Given the description of an element on the screen output the (x, y) to click on. 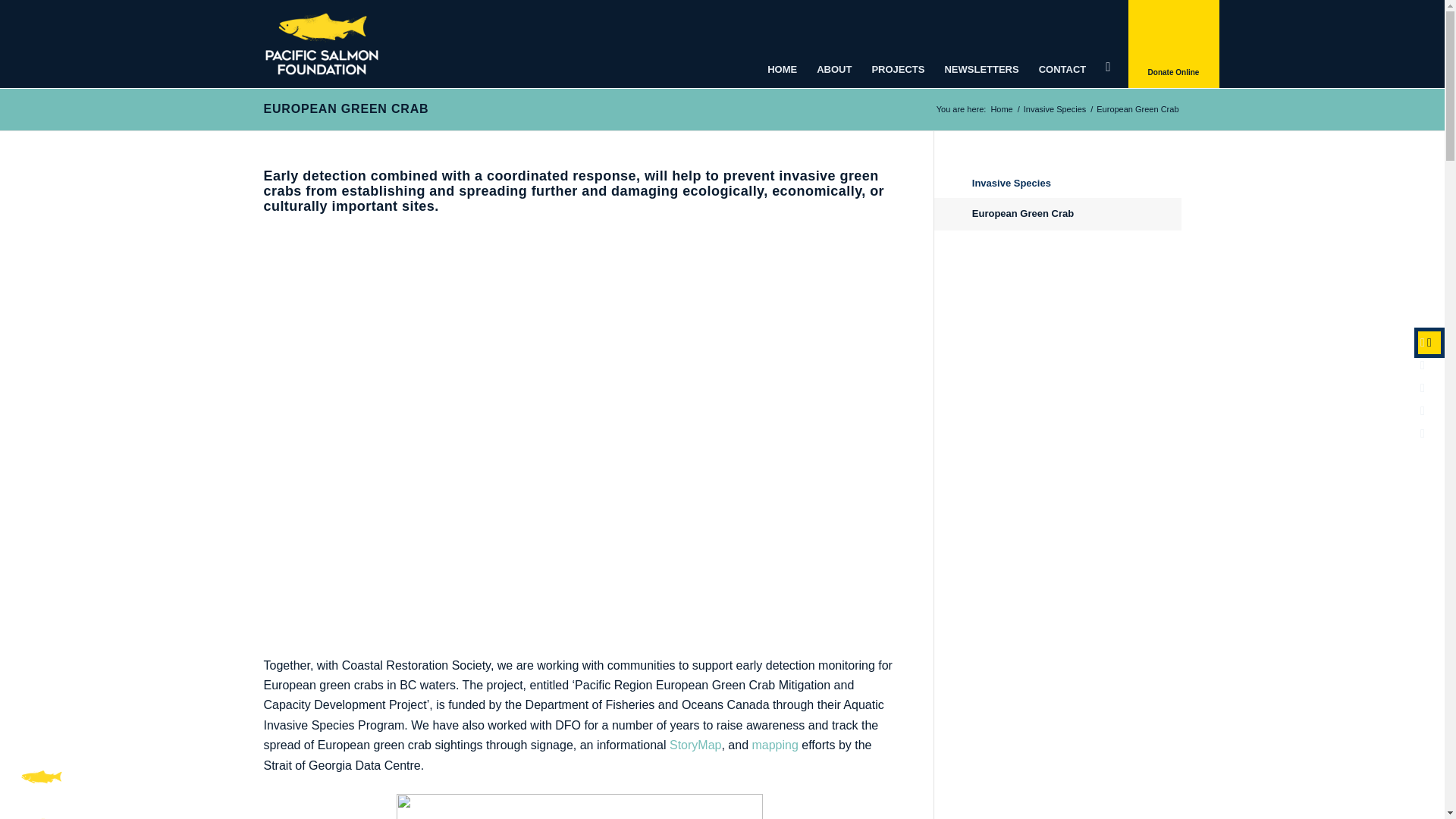
Invasive Species (1055, 109)
NEWSLETTERS (980, 43)
Donate Online (1174, 43)
Twitter (1422, 387)
Donate (1429, 342)
Youtube (1422, 433)
mapping (776, 744)
StoryMap (694, 744)
Loading (41, 777)
